Given the description of an element on the screen output the (x, y) to click on. 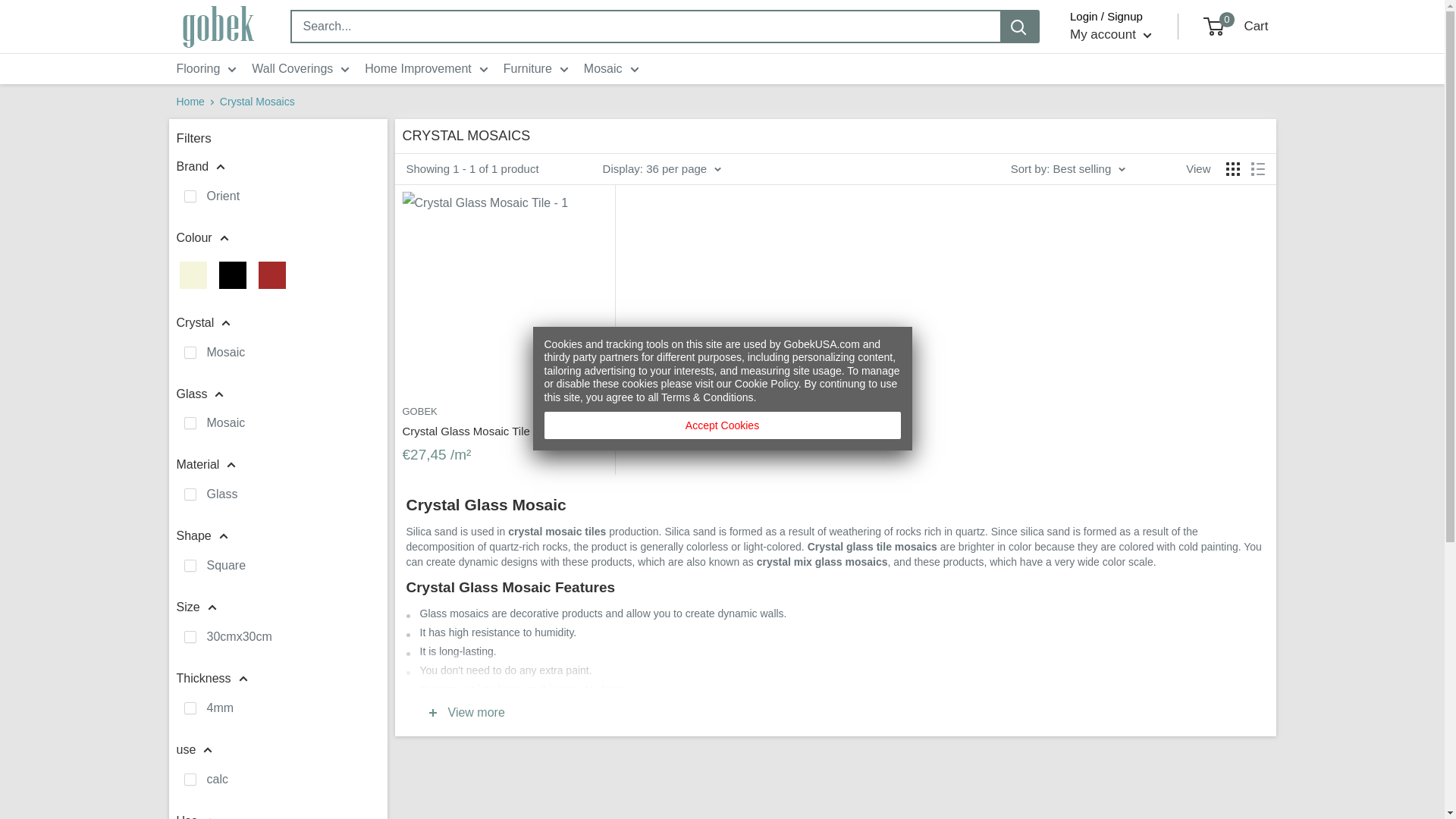
on (189, 352)
on (189, 636)
on (189, 494)
on (189, 779)
on (189, 707)
on (189, 565)
on (189, 422)
Crystal Glass Mosaic Tile - 1 (504, 294)
on (189, 196)
